Given the description of an element on the screen output the (x, y) to click on. 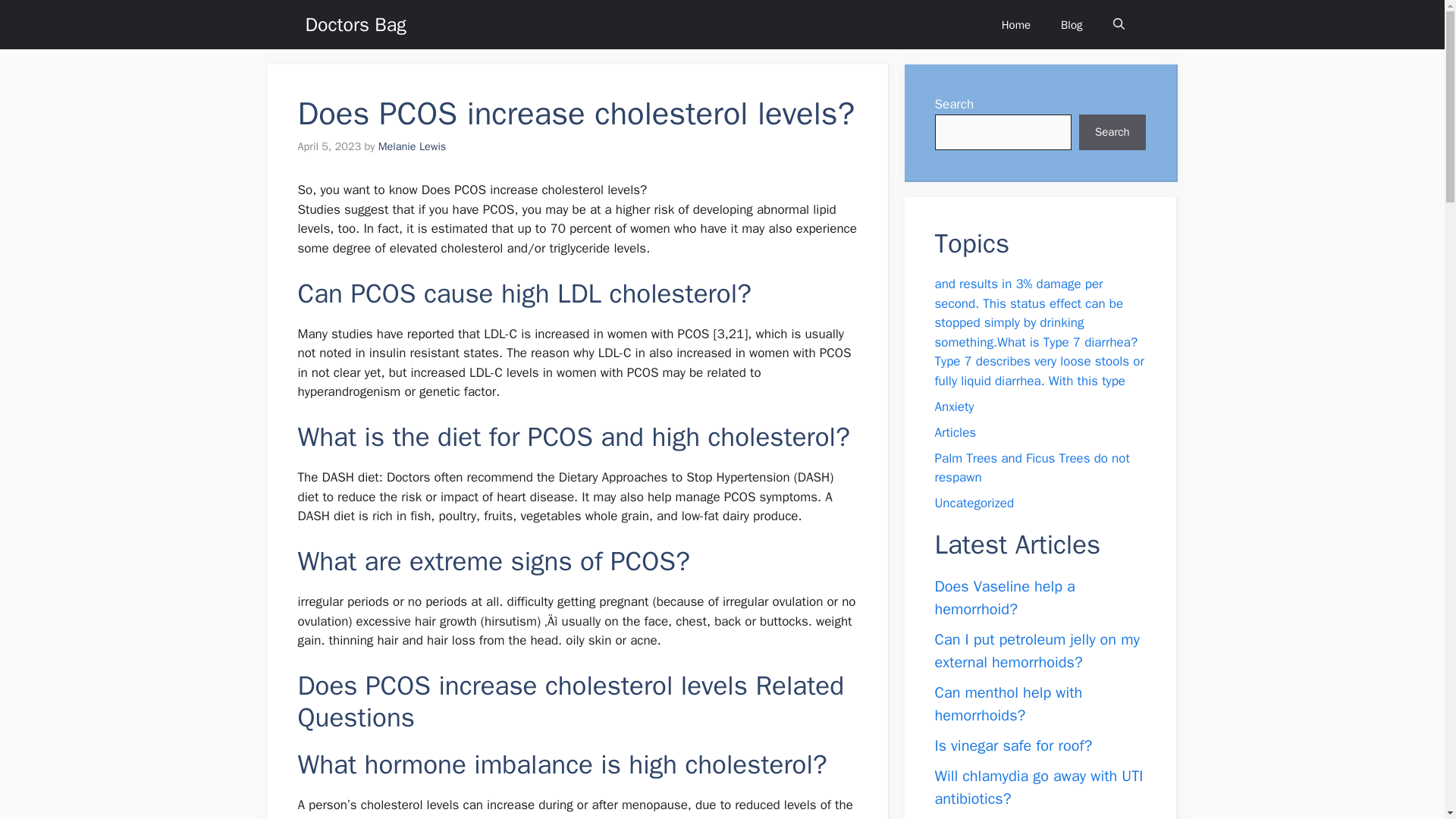
View all posts by Melanie Lewis (412, 146)
Is vinegar safe for roof? (1013, 744)
Uncategorized (973, 503)
Does Vaseline help a hemorrhoid? (1004, 597)
Will chlamydia go away with UTI antibiotics? (1038, 786)
Palm Trees and Ficus Trees do not respawn (1031, 468)
Blog (1071, 23)
Melanie Lewis (412, 146)
Can I put petroleum jelly on my external hemorrhoids? (1036, 649)
Doctors Bag (355, 24)
Anxiety (954, 406)
Can menthol help with hemorrhoids? (1007, 702)
Home (1016, 23)
Articles (954, 432)
Search (1111, 131)
